Given the description of an element on the screen output the (x, y) to click on. 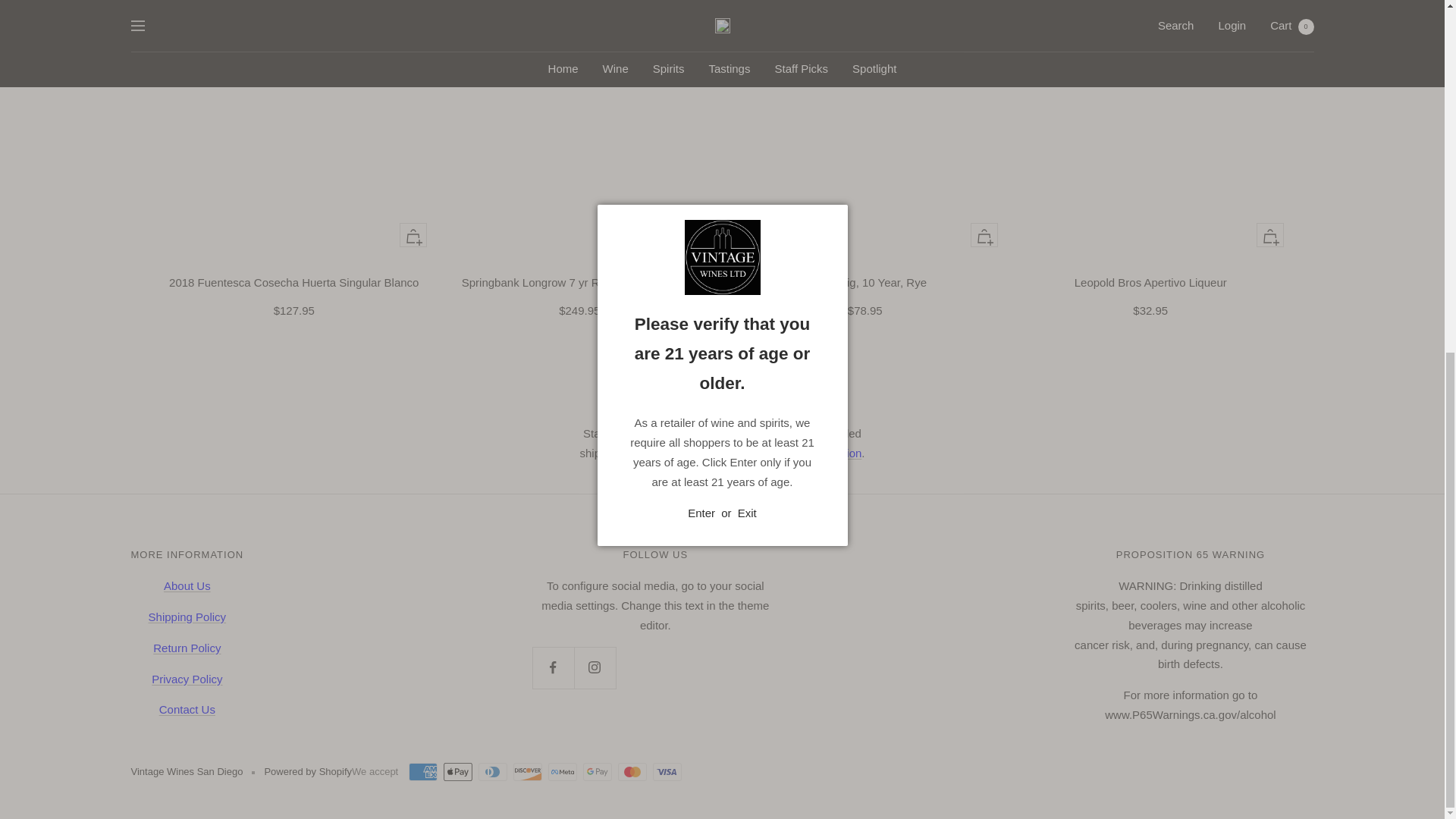
We Ship! (818, 452)
2018 Fuentesca Cosecha Huerta Singular Blanco (293, 282)
